Given the description of an element on the screen output the (x, y) to click on. 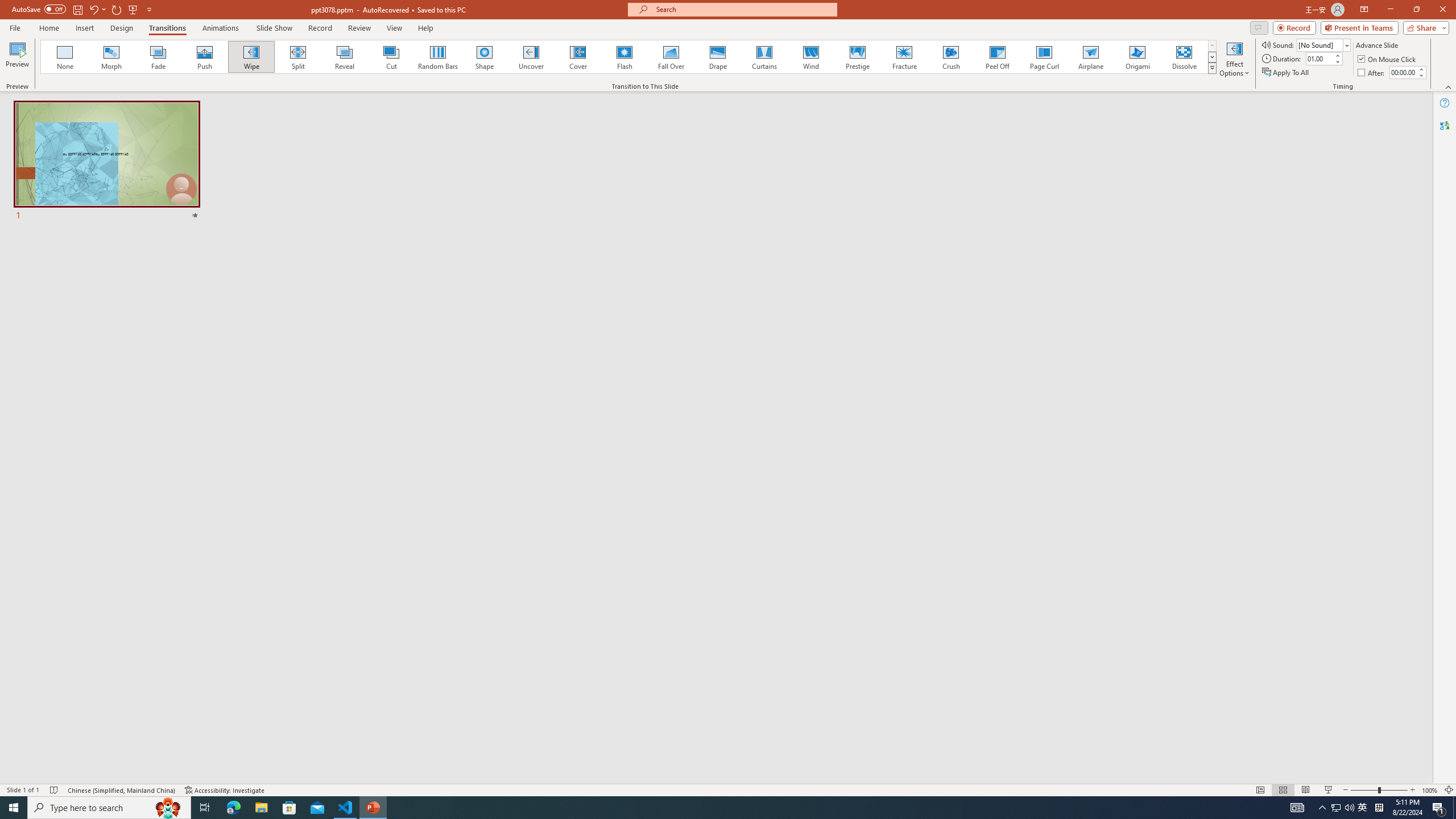
Apply To All (1286, 72)
Uncover (531, 56)
Split (298, 56)
Less (1420, 75)
Slide (106, 161)
On Mouse Click (1387, 58)
Flash (624, 56)
